Given the description of an element on the screen output the (x, y) to click on. 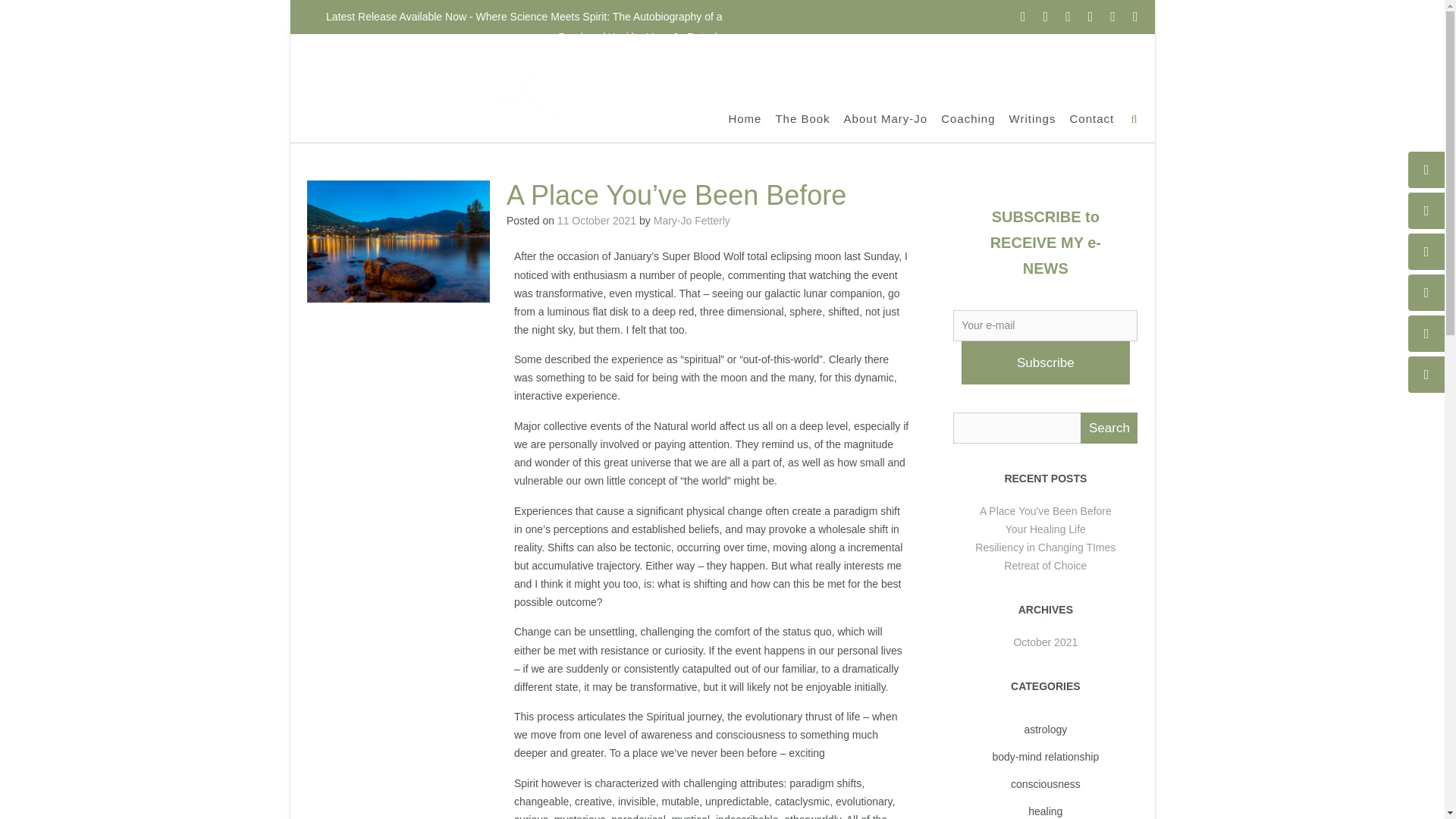
Writings (1033, 118)
Search (1108, 427)
Mary-Jo Fetterly (691, 220)
The Book (801, 118)
Contact (1090, 118)
Subscribe (1044, 362)
About Mary-Jo (886, 118)
Home (744, 118)
A Place You've Been Before (1045, 510)
11 October 2021 (596, 220)
Coaching (967, 118)
